Given the description of an element on the screen output the (x, y) to click on. 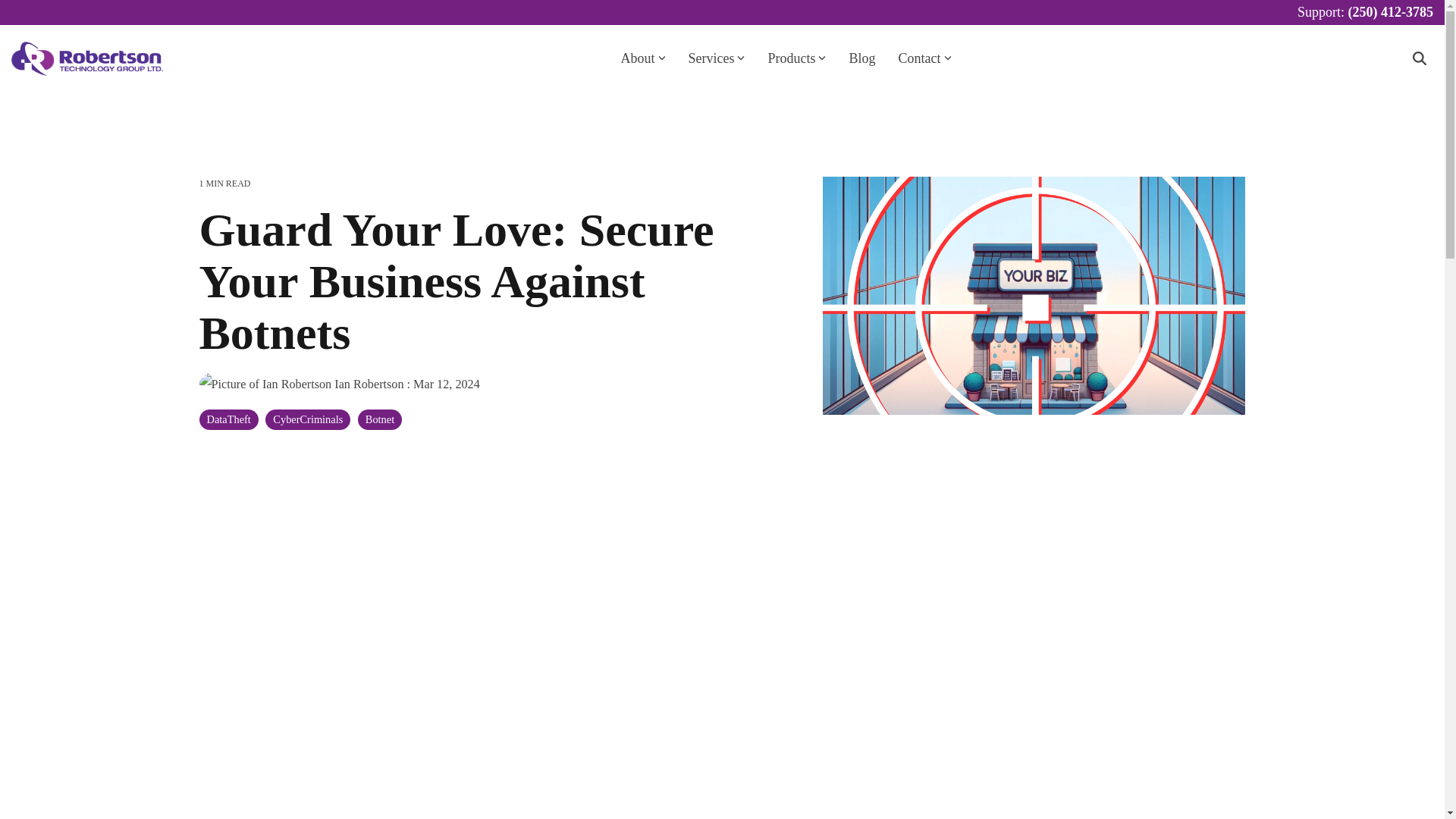
About (642, 58)
Robertson Technology Group Ltd. Logo (87, 58)
Products (796, 58)
Blog (861, 58)
Services (716, 58)
Contact (924, 58)
